Given the description of an element on the screen output the (x, y) to click on. 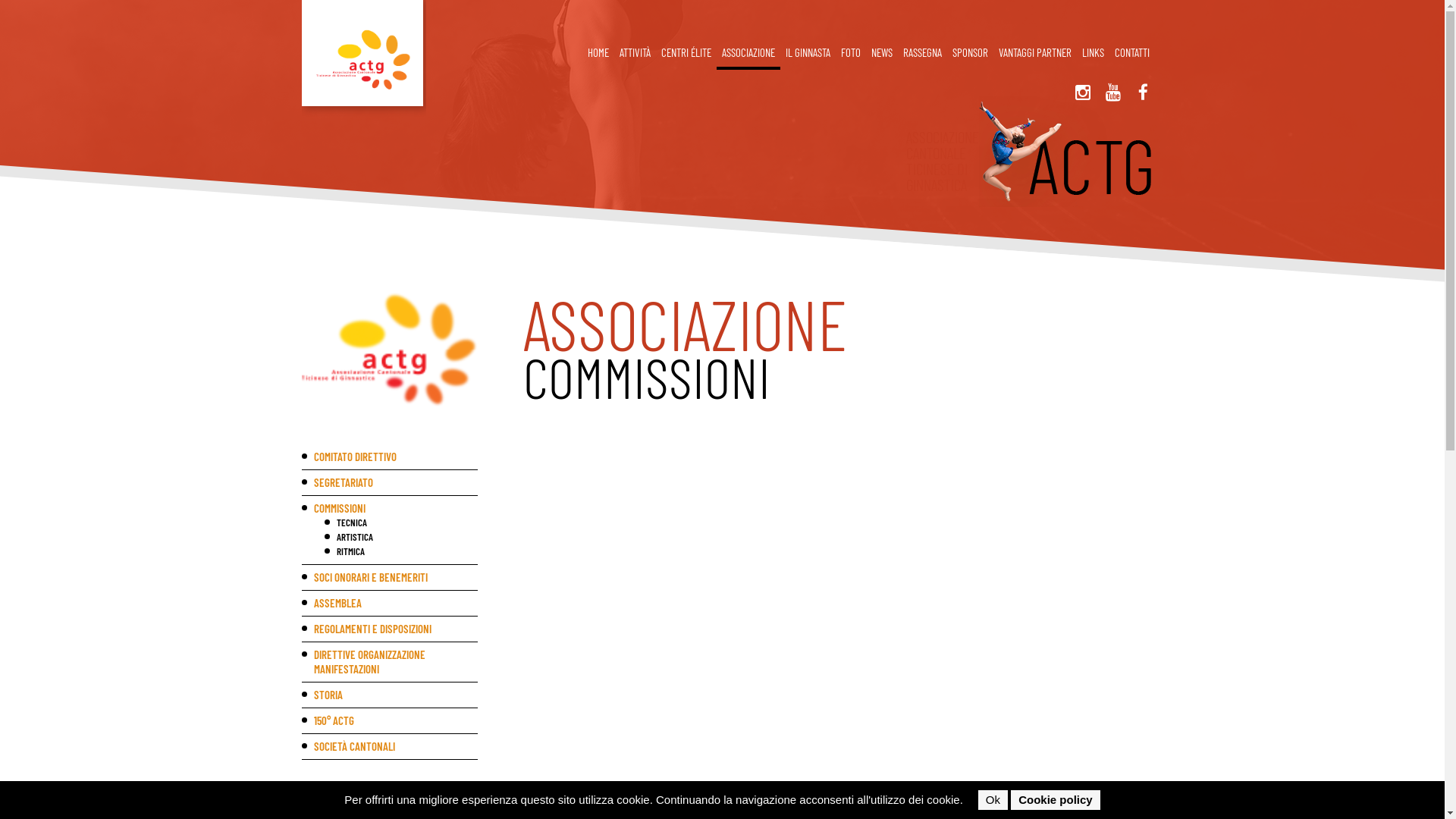
COMMISSIONI Element type: text (389, 508)
STORIA Element type: text (389, 694)
COMITATO DIRETTIVO Element type: text (389, 456)
DIRETTIVE ORGANIZZAZIONE MANIFESTAZIONI Element type: text (389, 661)
SOCI ONORARI E BENEMERITI Element type: text (389, 577)
LINKS Element type: text (1092, 53)
SPONSOR Element type: text (969, 53)
FOTO Element type: text (850, 53)
NEWS Element type: text (881, 53)
SEGRETARIATO Element type: text (389, 482)
ASSOCIAZIONE Element type: text (747, 53)
CONTATTI Element type: text (1131, 53)
RITMICA Element type: text (401, 551)
RASSEGNA Element type: text (922, 53)
ARTISTICA Element type: text (401, 537)
TECNICA Element type: text (401, 522)
REGOLAMENTI E DISPOSIZIONI Element type: text (389, 628)
ASSEMBLEA Element type: text (389, 603)
VANTAGGI PARTNER Element type: text (1034, 53)
IL GINNASTA Element type: text (806, 53)
HOME Element type: text (598, 53)
Cookie policy Element type: text (1055, 799)
